Given the description of an element on the screen output the (x, y) to click on. 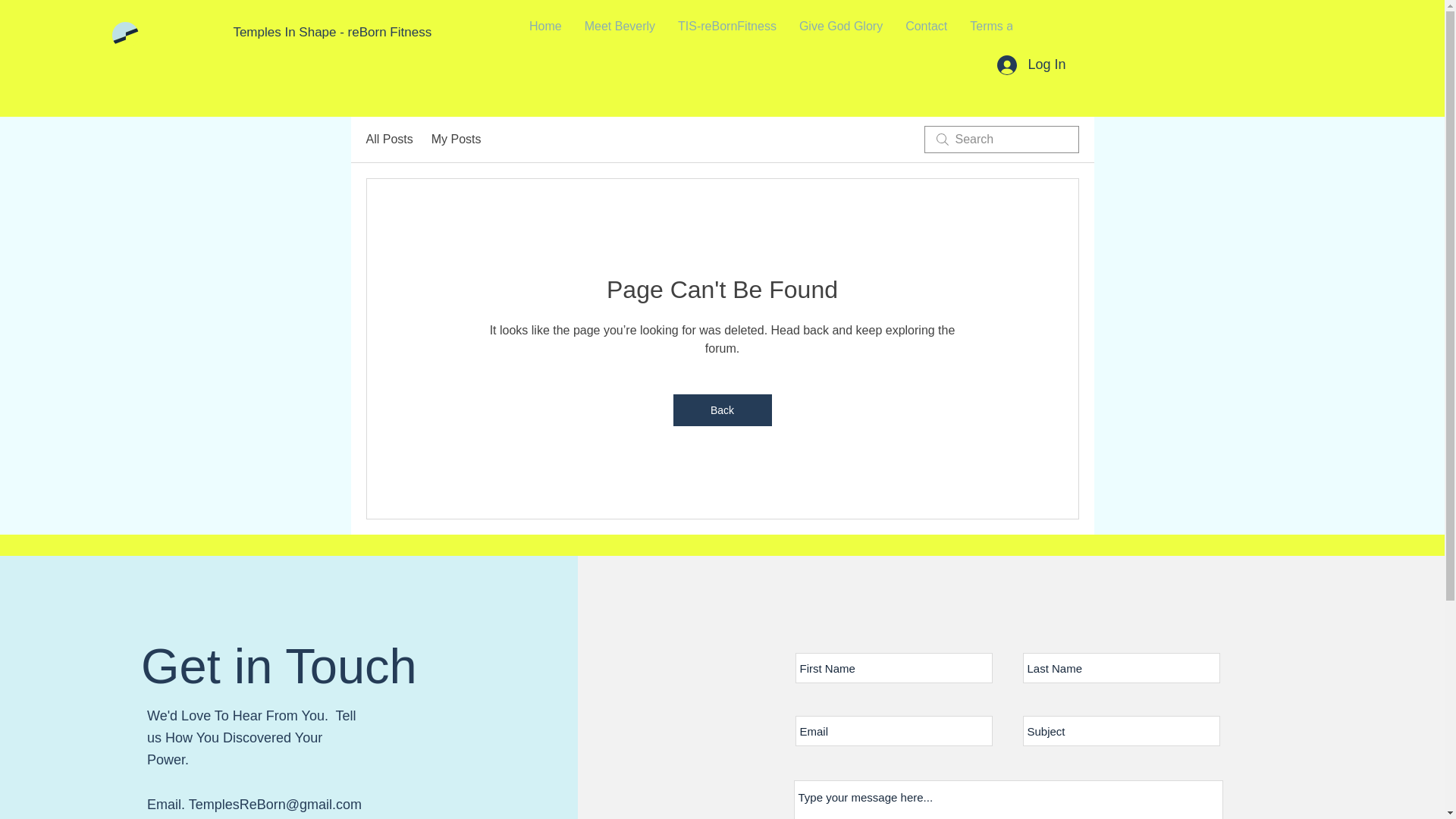
Home (545, 33)
All Posts (388, 139)
TIS-reBornFitness (726, 33)
Log In (1031, 63)
Meet Beverly (619, 33)
My Posts (455, 139)
Contact (925, 33)
Terms and Conditions (1028, 33)
Back (721, 409)
Give God Glory (840, 33)
